Given the description of an element on the screen output the (x, y) to click on. 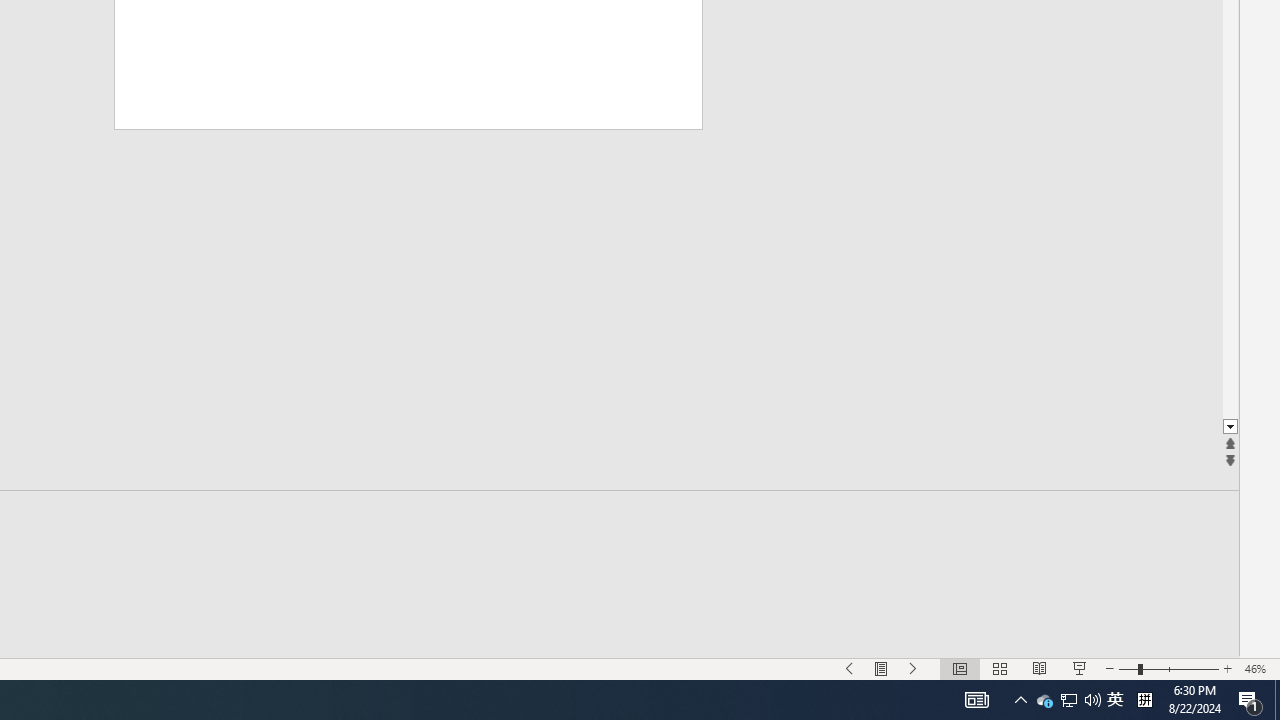
AutomationID: 4105 (976, 699)
Action Center, 1 new notification (1250, 699)
Menu On (882, 668)
Slide Show Previous On (1044, 699)
Show desktop (850, 668)
